Given the description of an element on the screen output the (x, y) to click on. 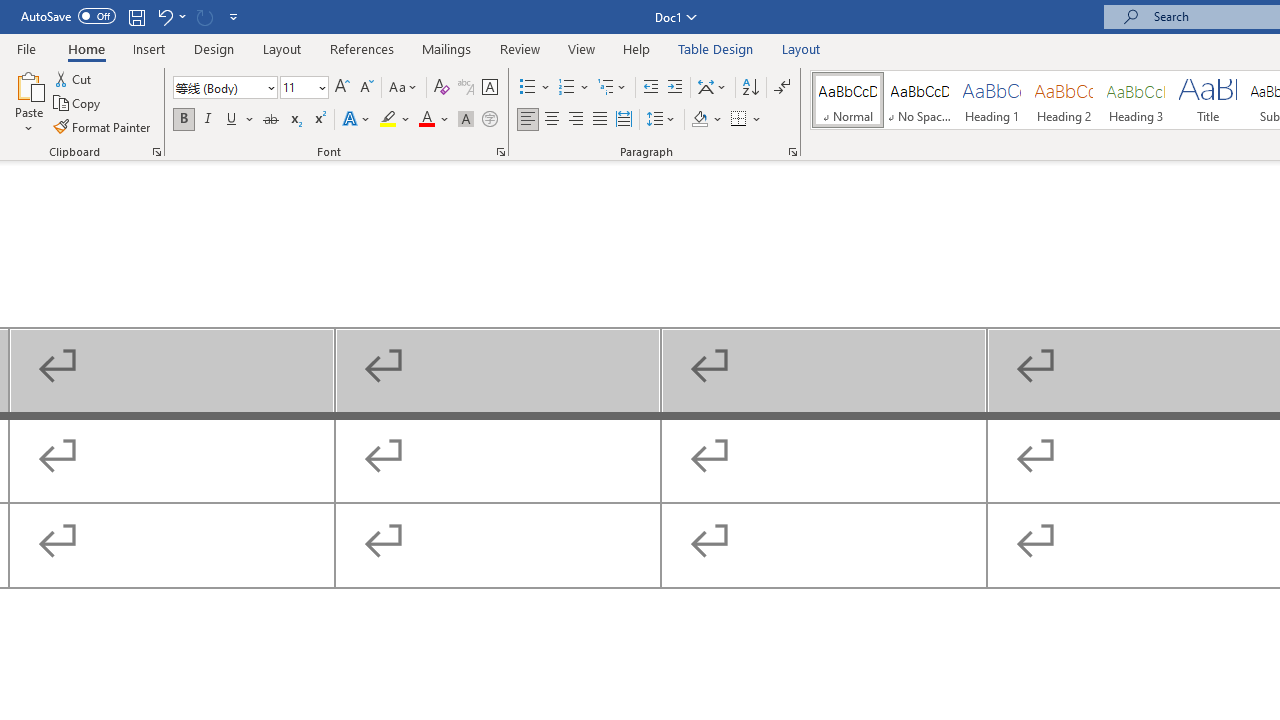
Table Design (715, 48)
Font Color (434, 119)
Increase Indent (675, 87)
Office Clipboard... (156, 151)
Asian Layout (712, 87)
Multilevel List (613, 87)
Clear Formatting (442, 87)
Center (552, 119)
Font... (500, 151)
